Given the description of an element on the screen output the (x, y) to click on. 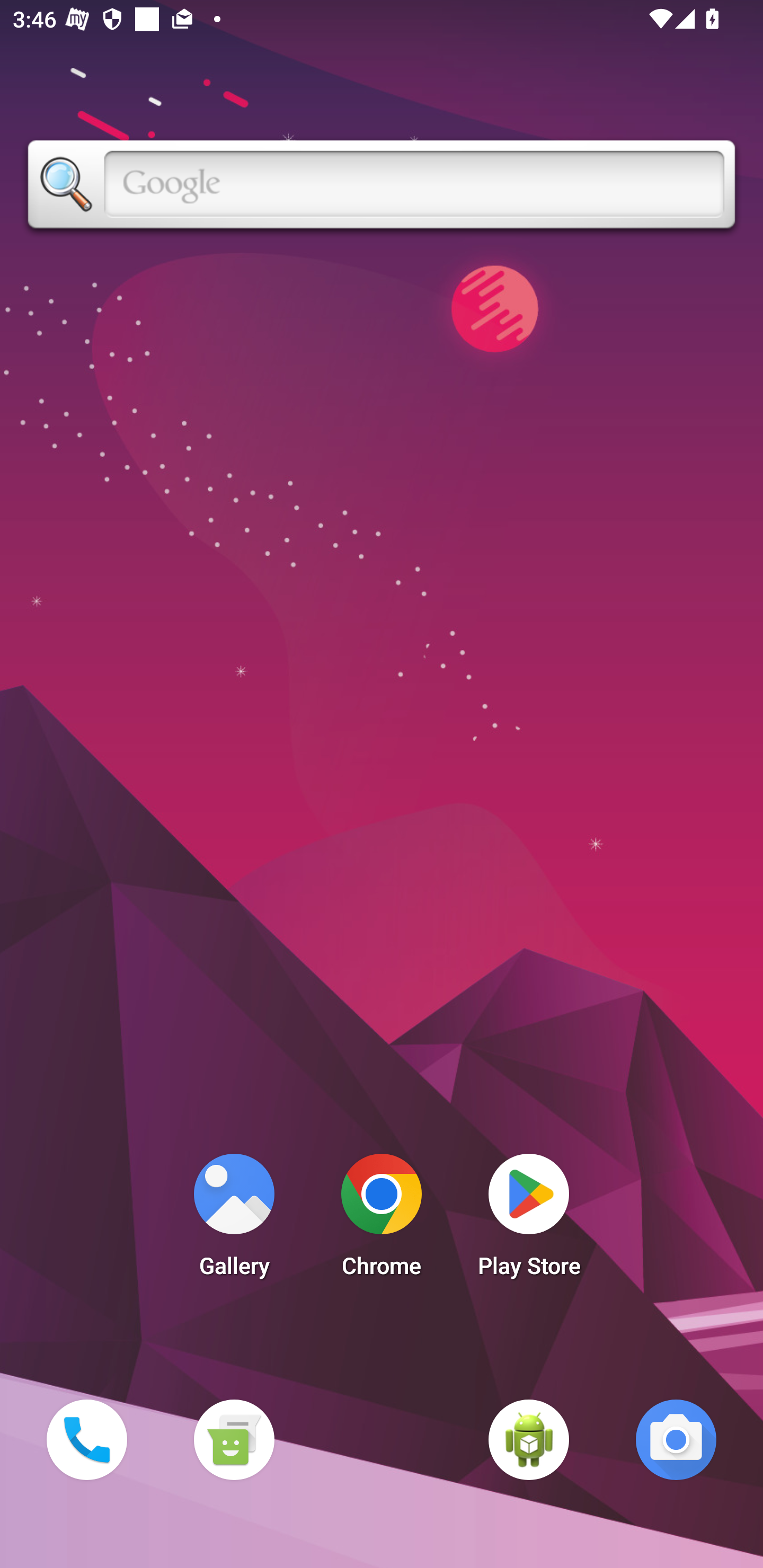
Gallery (233, 1220)
Chrome (381, 1220)
Play Store (528, 1220)
Phone (86, 1439)
Messaging (233, 1439)
WebView Browser Tester (528, 1439)
Camera (676, 1439)
